Given the description of an element on the screen output the (x, y) to click on. 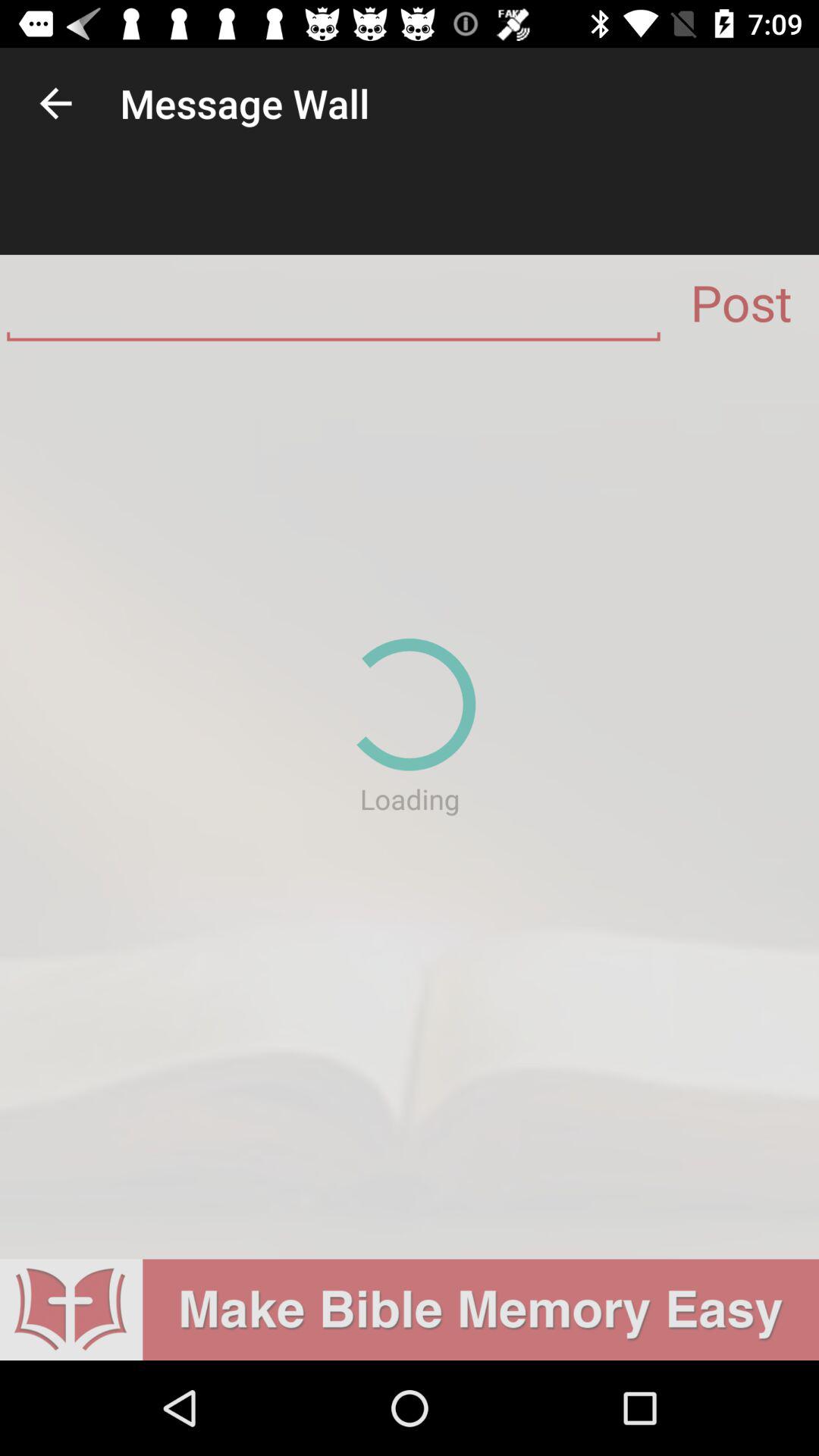
search the post (333, 308)
